Given the description of an element on the screen output the (x, y) to click on. 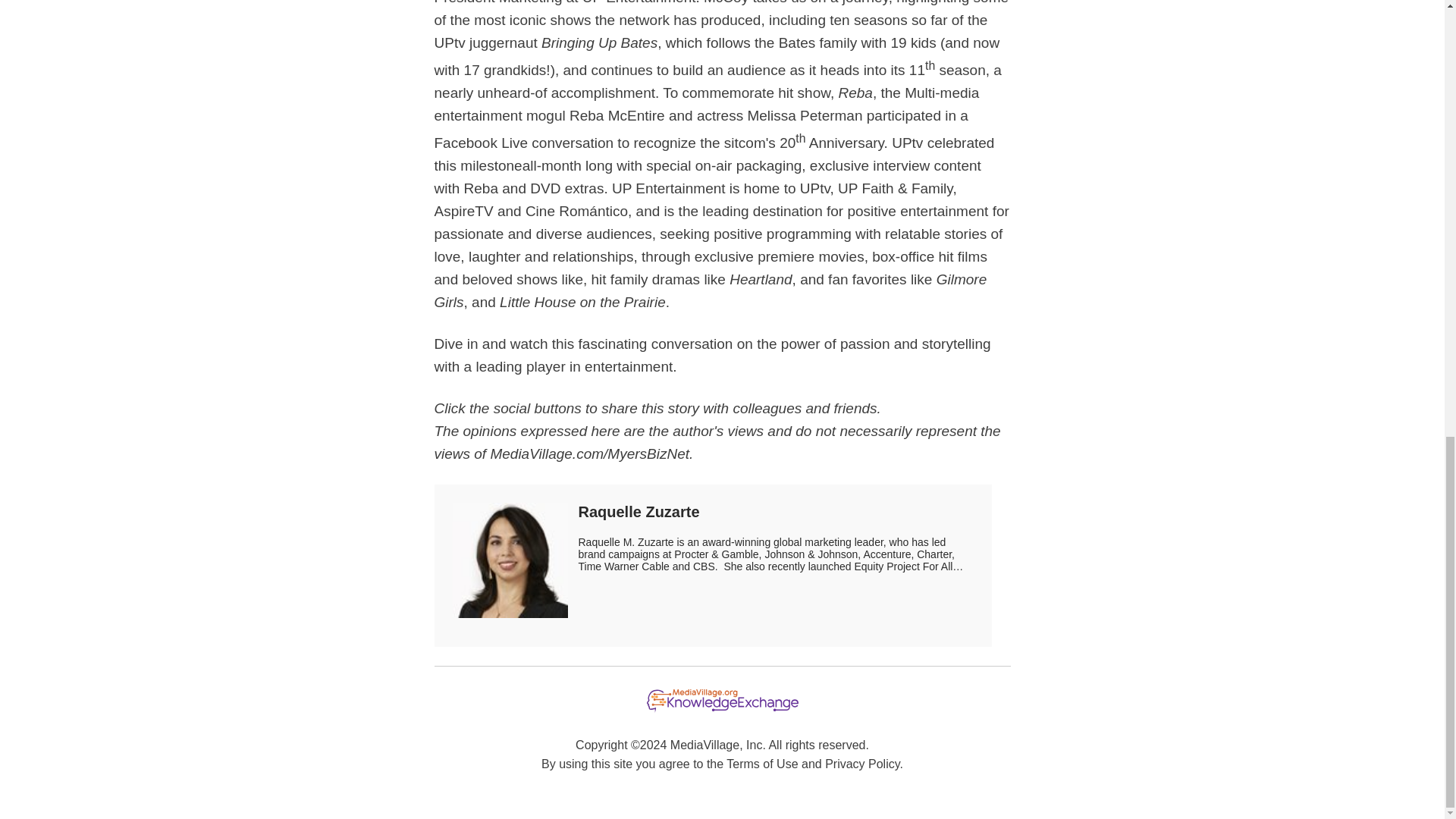
Little House on the Prairie (582, 302)
Gilmore Girls (710, 290)
Heartland (760, 279)
